Given the description of an element on the screen output the (x, y) to click on. 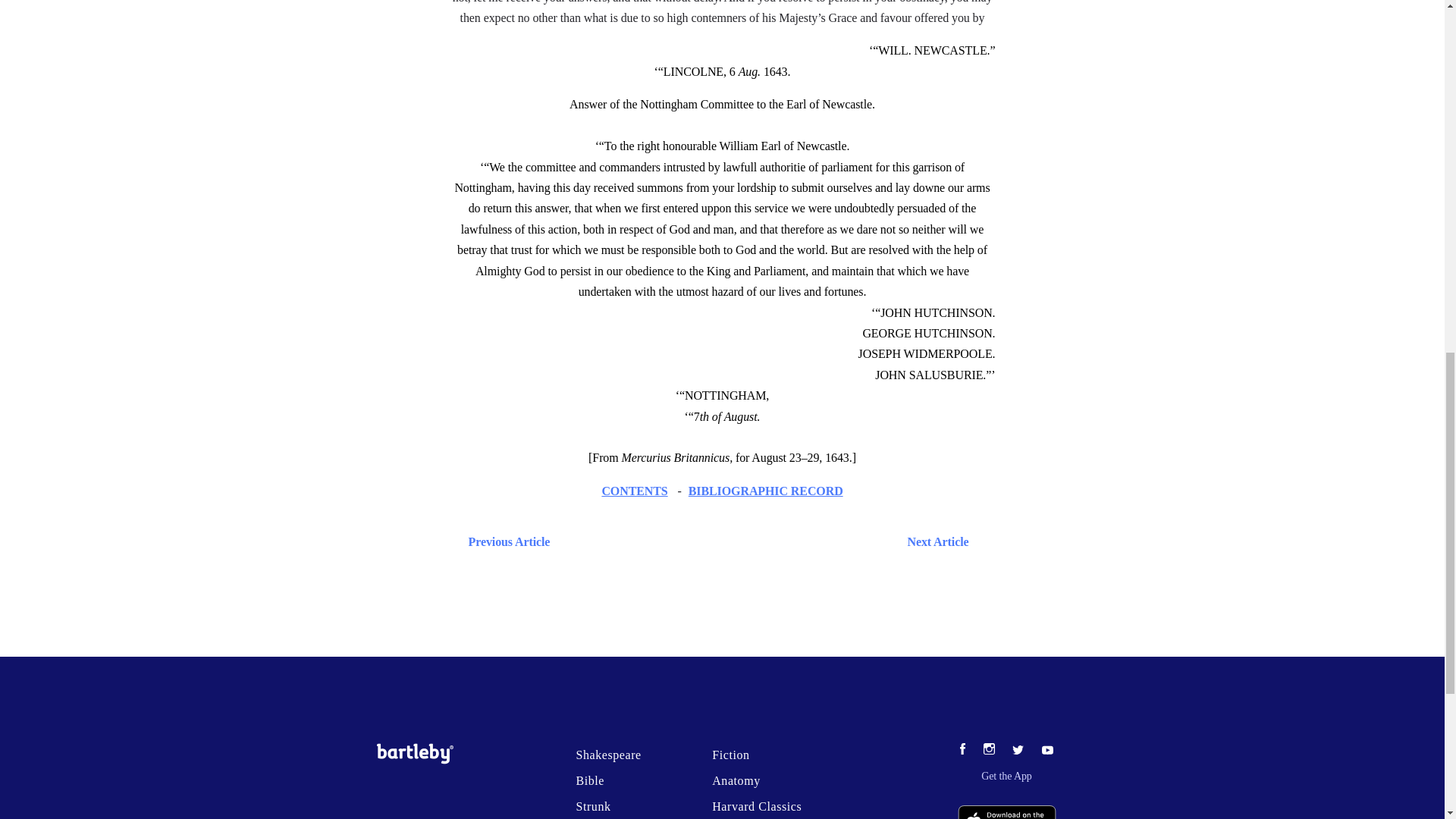
Strunk (592, 806)
BIBLIOGRAPHIC RECORD (765, 490)
Fiction (730, 754)
Next Article (766, 541)
Harvard Classics (756, 806)
Previous Article (505, 541)
Anatomy (735, 780)
CONTENTS (633, 490)
Shakespeare (607, 754)
Bible (589, 780)
